Given the description of an element on the screen output the (x, y) to click on. 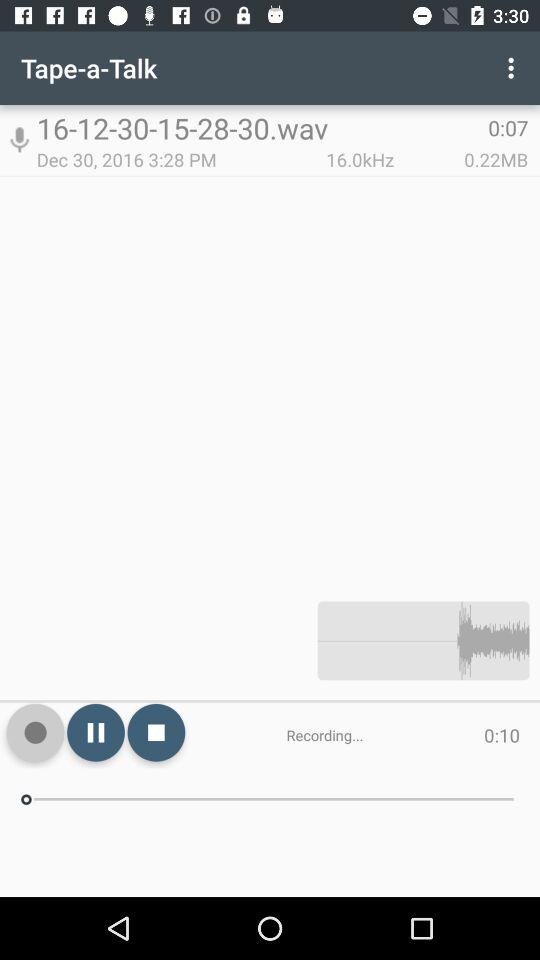
click the item next to the 16 12 30 item (513, 67)
